Given the description of an element on the screen output the (x, y) to click on. 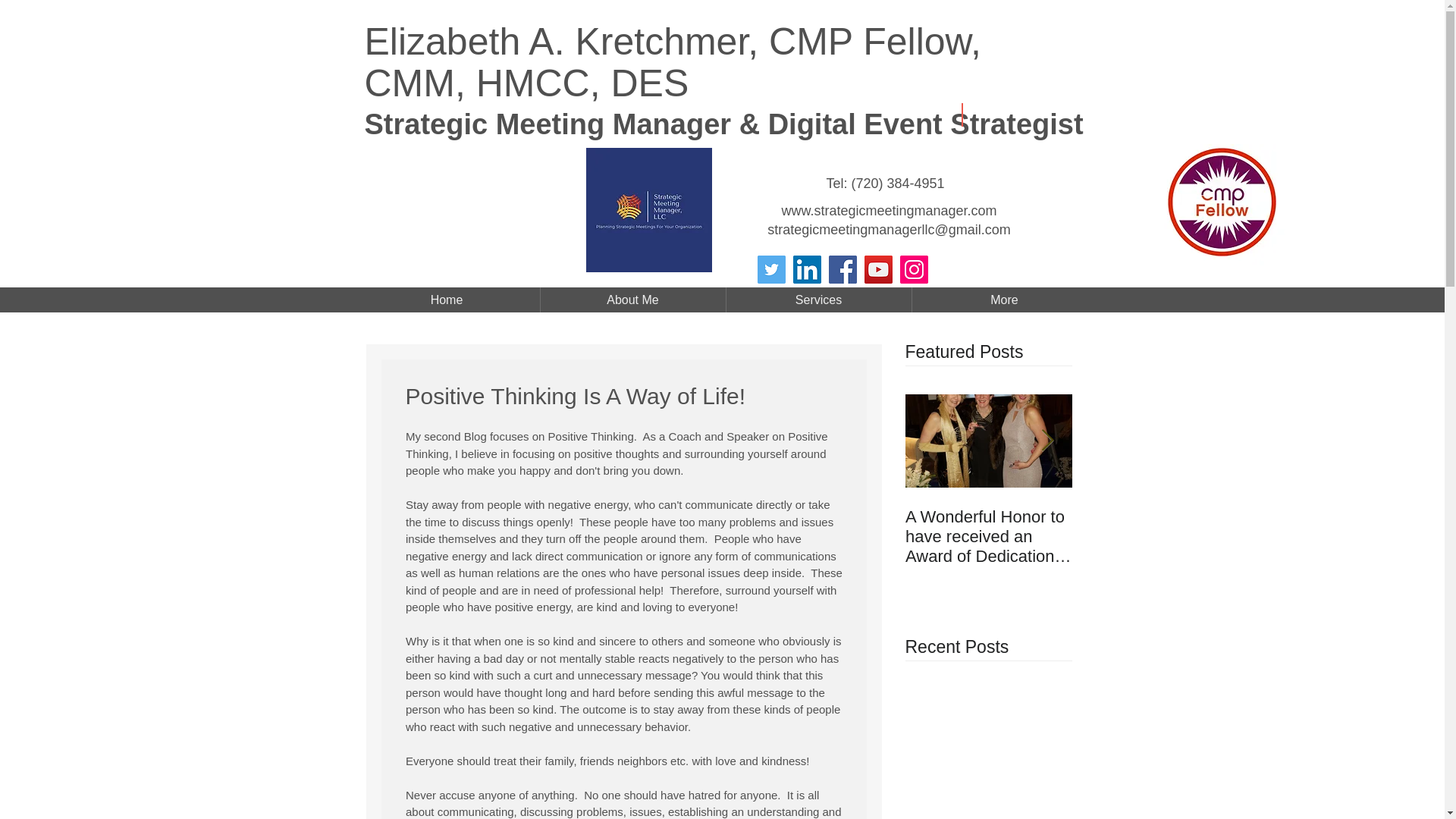
Home (445, 299)
www.strategicmeetingmanager.com (887, 210)
1649271283132.jpeg (1227, 213)
About Me (632, 299)
Elizabeth A. Kretchmer, CMP Fellow, CMM, HMCC, DES (671, 62)
Preview.jpg (648, 209)
Services (818, 299)
Strategic Meeting Manager  (551, 124)
